Given the description of an element on the screen output the (x, y) to click on. 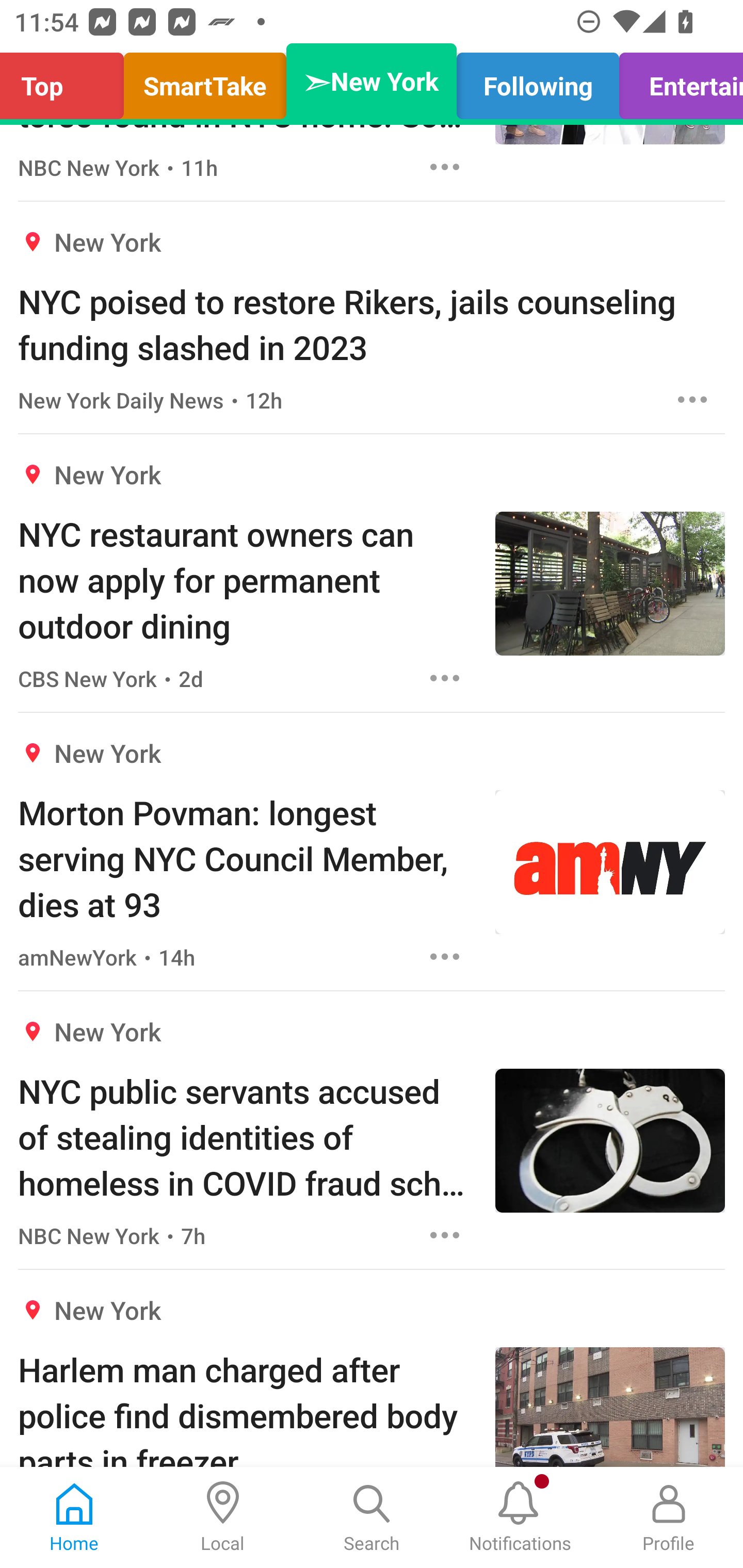
Top (67, 81)
SmartTake (204, 81)
➣New York (371, 81)
Following (537, 81)
Options (444, 166)
Options (692, 399)
Options (444, 677)
Options (444, 956)
Options (444, 1235)
Local (222, 1517)
Search (371, 1517)
Notifications, New notification Notifications (519, 1517)
Profile (668, 1517)
